Given the description of an element on the screen output the (x, y) to click on. 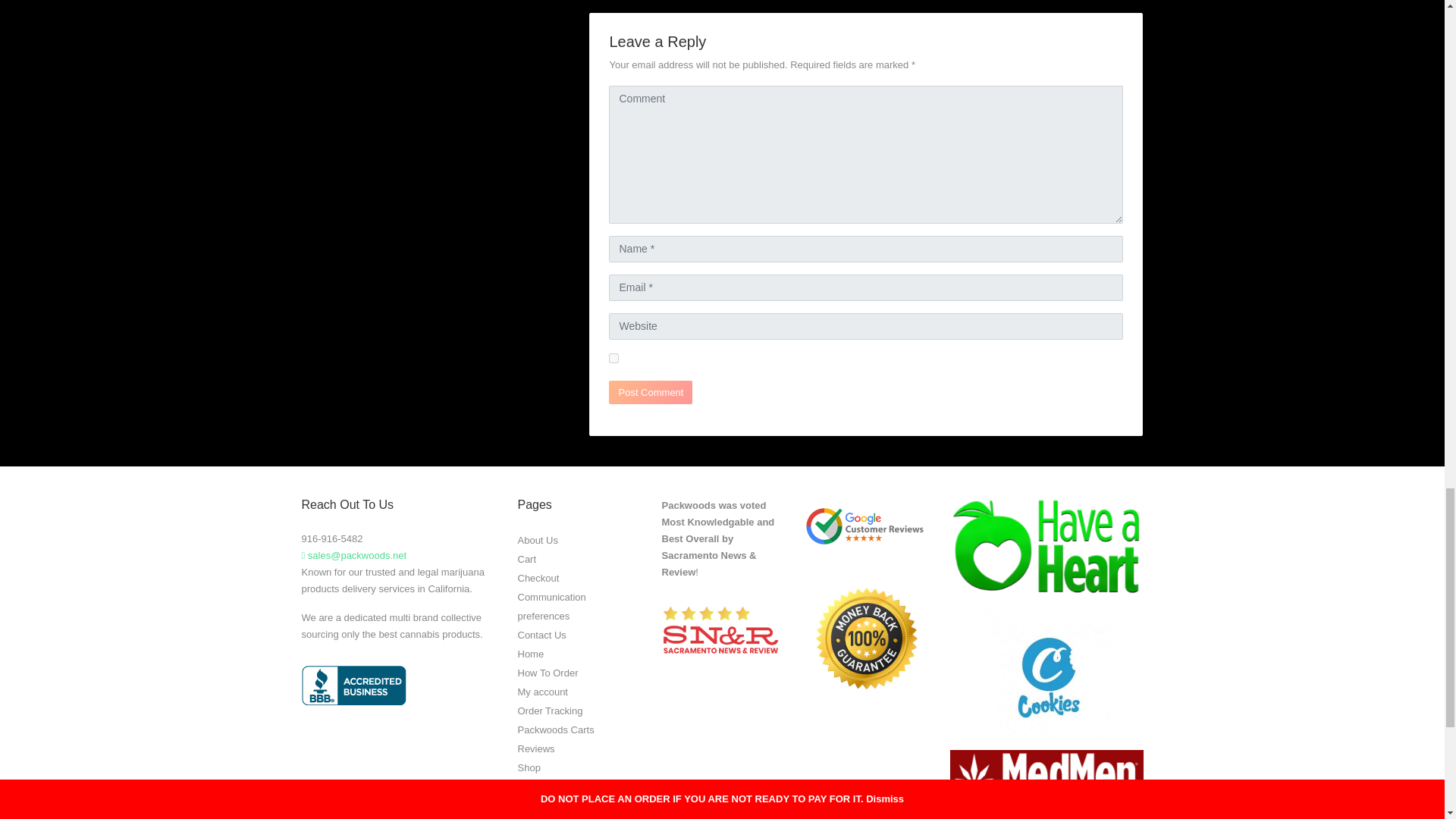
Cart (525, 559)
My account (541, 690)
Order Tracking (549, 710)
yes (613, 357)
Reviews (535, 748)
How To Order (547, 672)
Post Comment (650, 392)
Shop (528, 767)
Post Comment (650, 392)
Packwoods Carts (555, 728)
Home (529, 653)
About Us (536, 539)
Contact Us (541, 634)
Communication preferences (550, 606)
Checkout (537, 577)
